Given the description of an element on the screen output the (x, y) to click on. 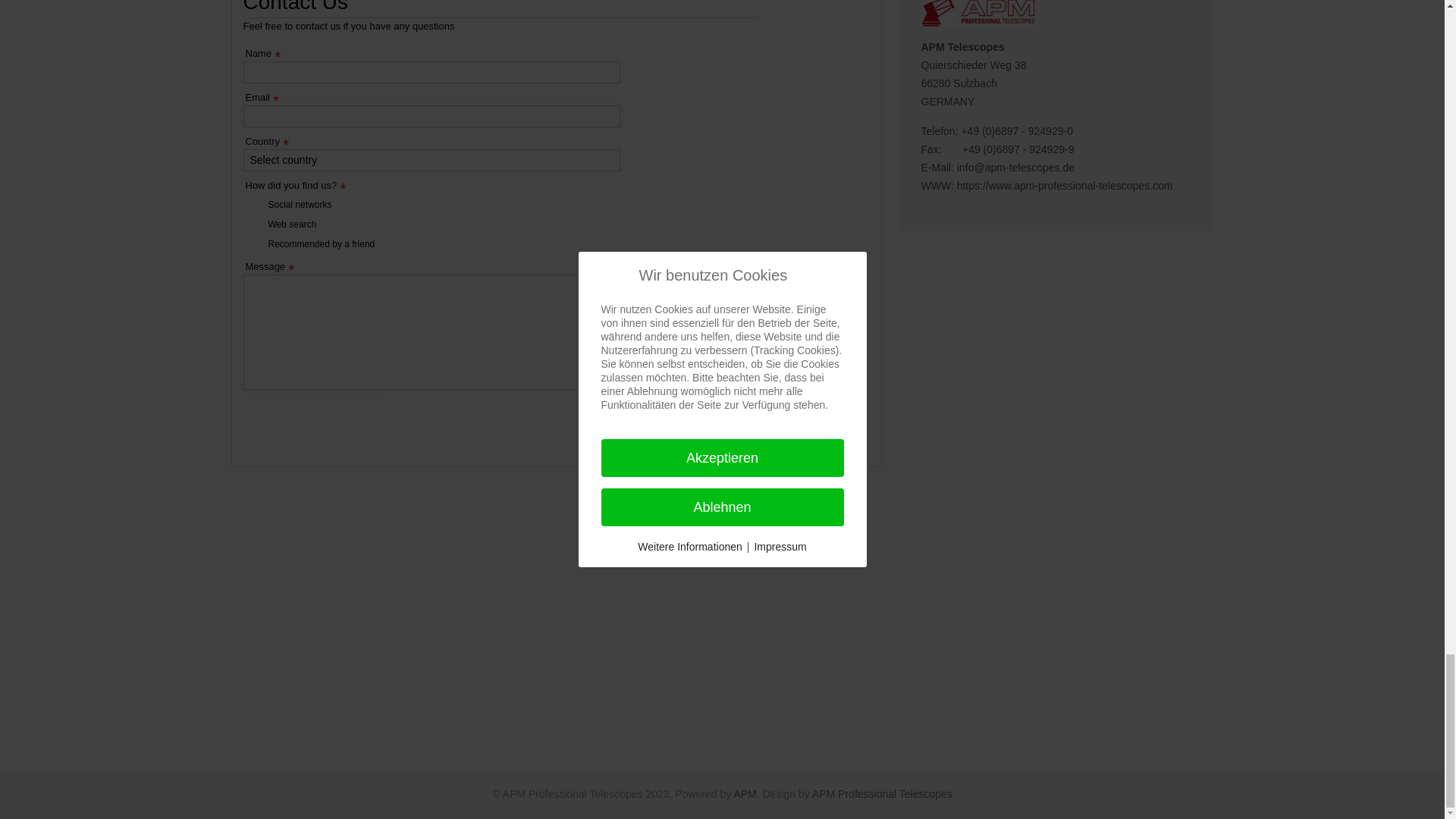
Send (804, 420)
